Given the description of an element on the screen output the (x, y) to click on. 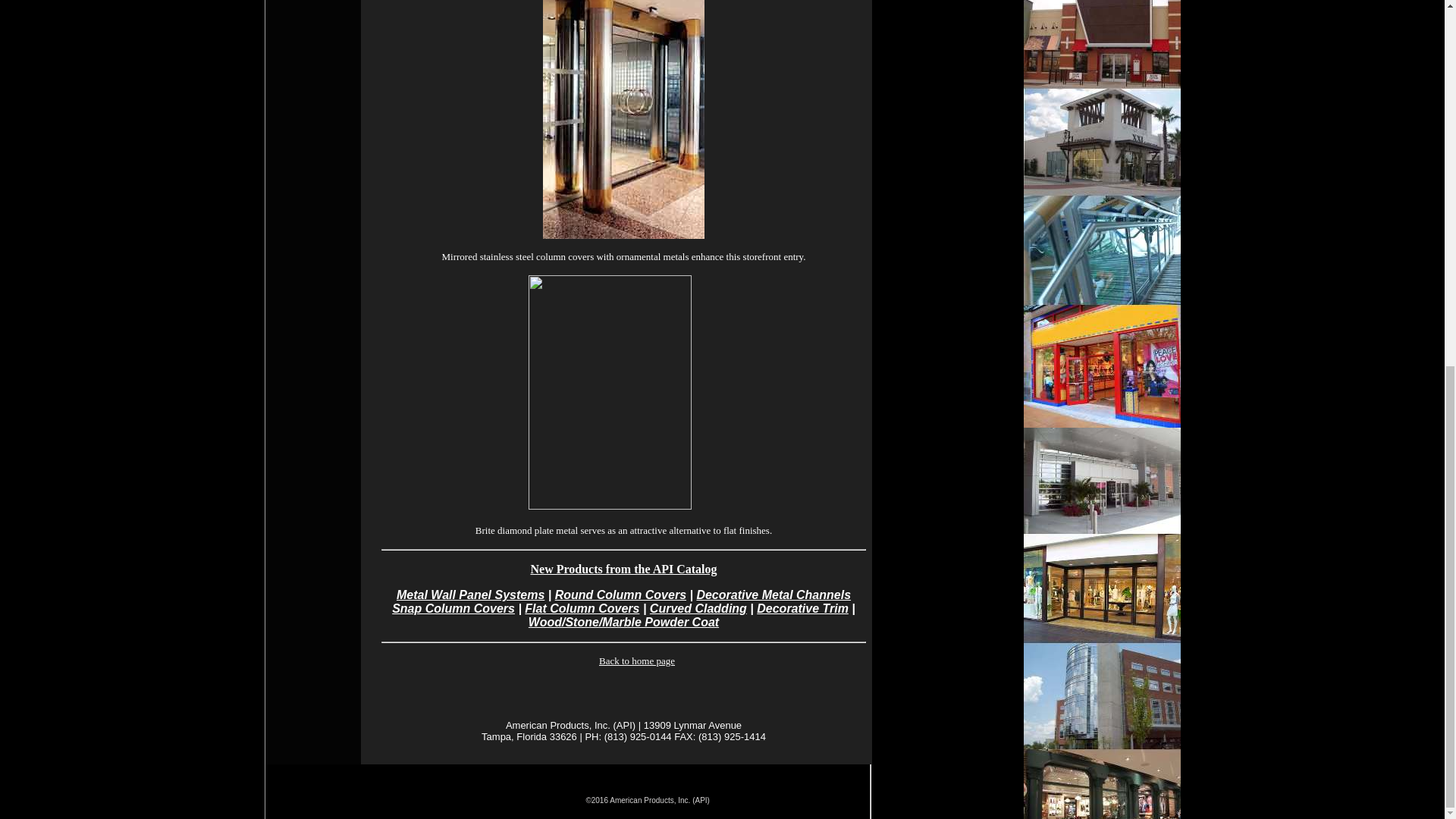
Round Column Covers (619, 594)
Flat Column Covers (581, 608)
Metal Wall Panel Systems (470, 594)
New Products from the API Catalog (622, 568)
Snap Column Covers (453, 608)
Decorative Trim (802, 608)
Back to home page (636, 660)
Decorative Metal Channels (772, 594)
Curved Cladding (697, 608)
